Given the description of an element on the screen output the (x, y) to click on. 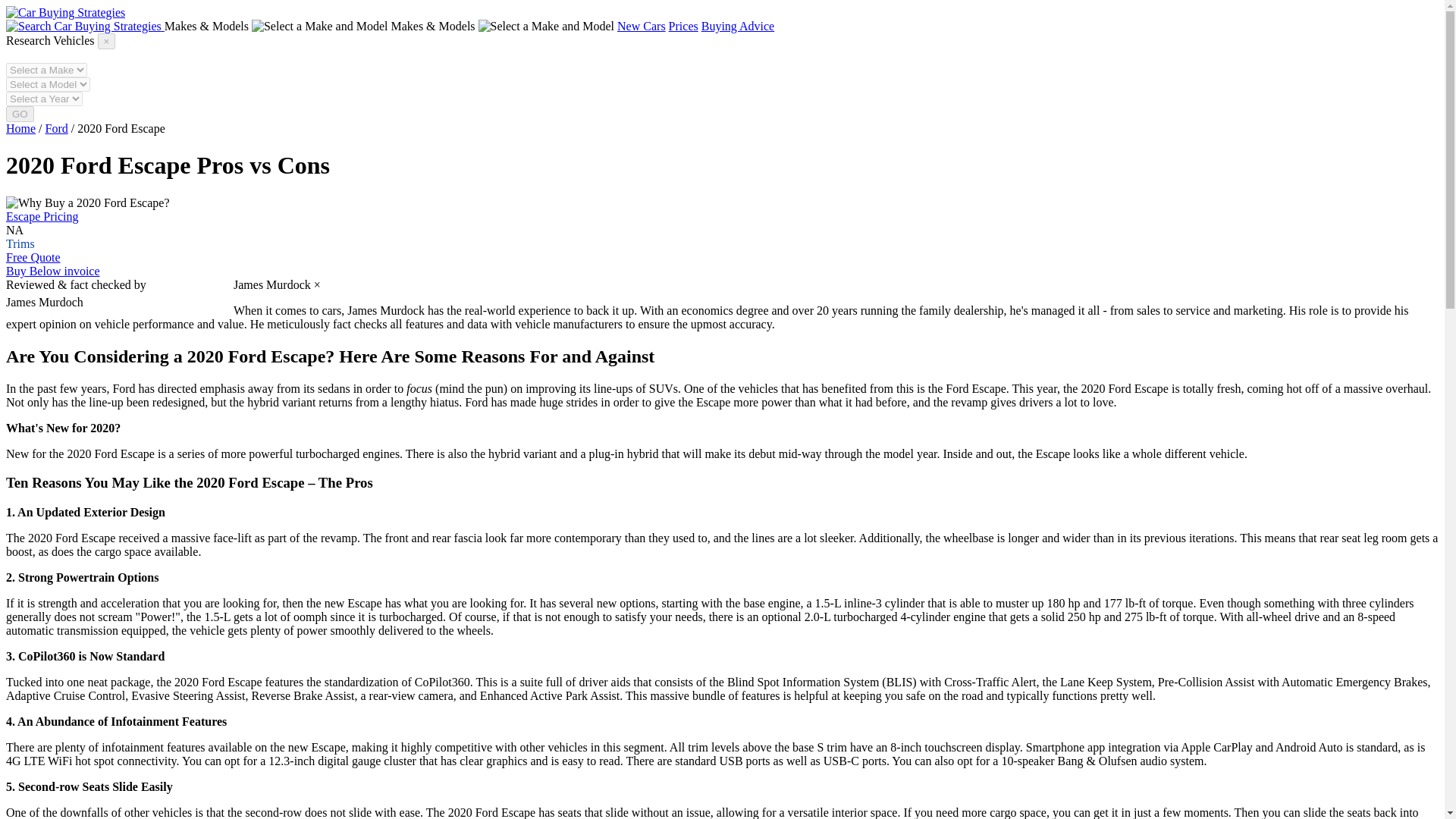
Escape Pricing (41, 215)
GO (19, 114)
Prices (683, 25)
New Cars (641, 25)
Free Quote (33, 256)
Ford (56, 128)
Buy Below invoice (52, 270)
Buying Advice (737, 25)
Home (19, 128)
